Given the description of an element on the screen output the (x, y) to click on. 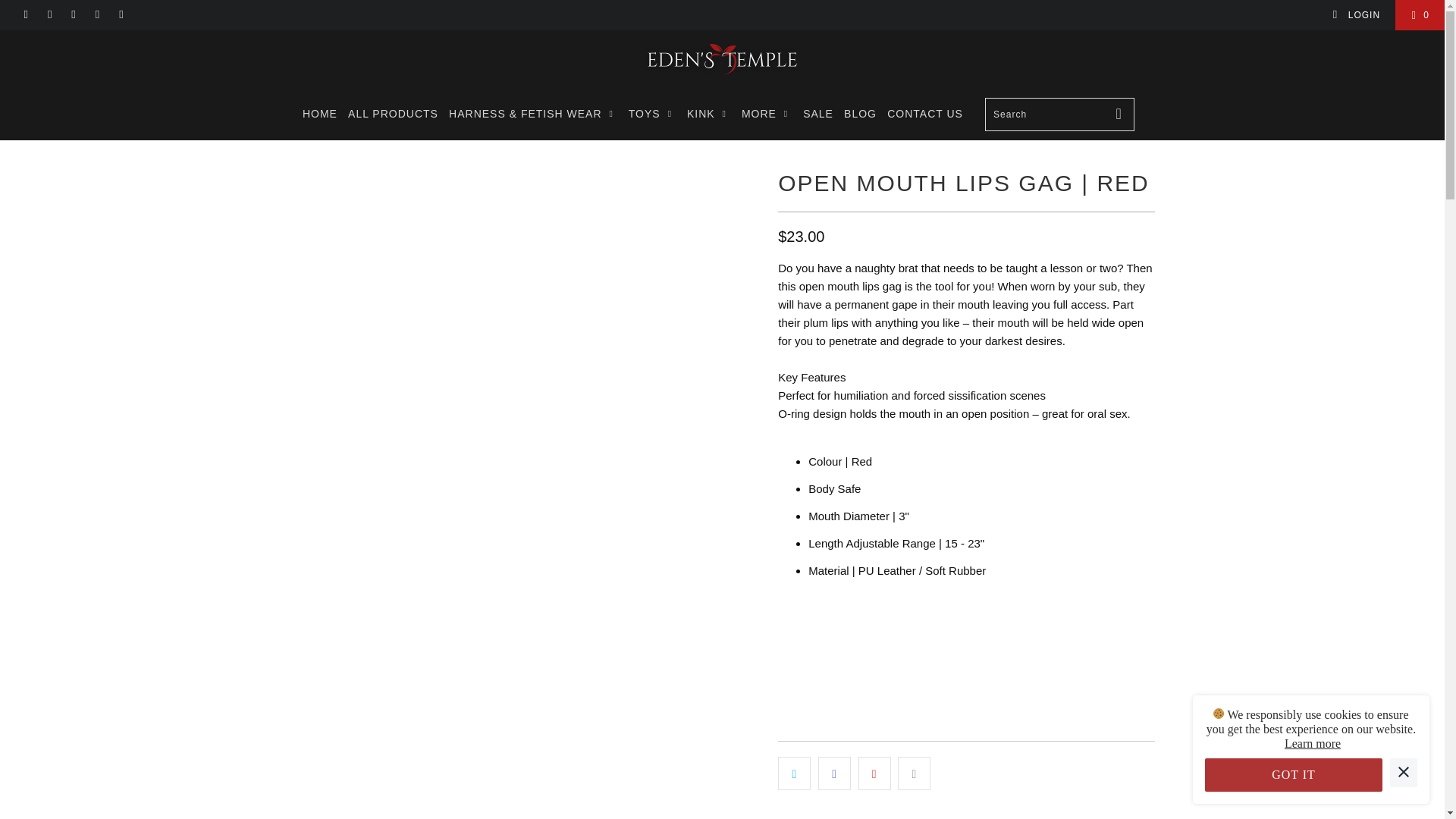
Eden's Temple on YouTube (48, 14)
Email this to a friend (914, 773)
Eden's Temple on Snapchat (96, 14)
Share this on Twitter (793, 773)
Eden's Temple on Twitter (25, 14)
My Account  (1355, 15)
Eden's Temple on Instagram (73, 14)
Email Eden's Temple (121, 14)
Share this on Facebook (834, 773)
Share this on Pinterest (875, 773)
